Given the description of an element on the screen output the (x, y) to click on. 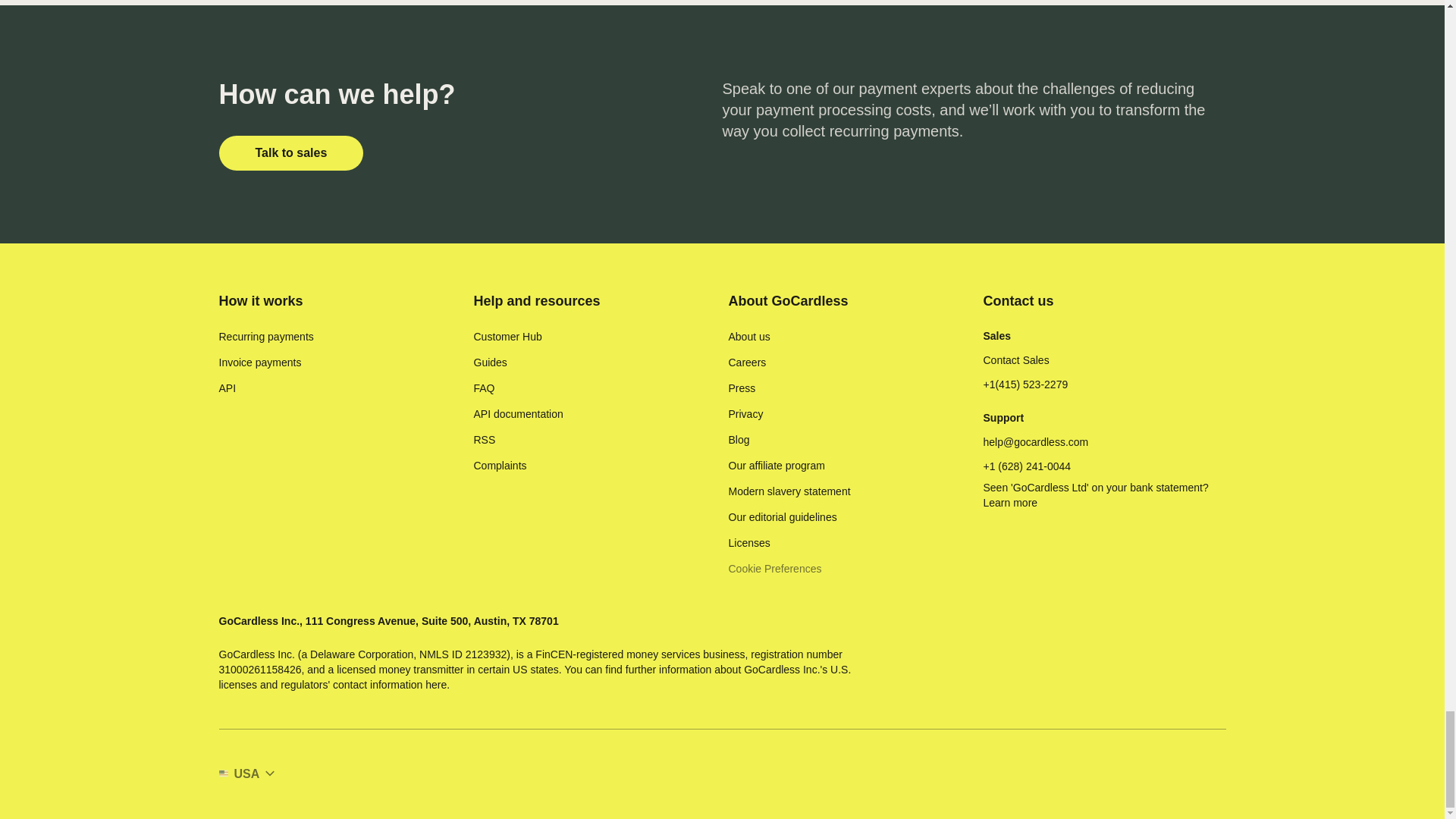
Guides (489, 362)
RSS (484, 439)
Complaints (499, 465)
Blog (738, 439)
Careers (746, 362)
FAQ (484, 387)
API documentation (517, 413)
Recurring payments (265, 336)
Invoice payments (259, 362)
Our affiliate program (776, 465)
